Given the description of an element on the screen output the (x, y) to click on. 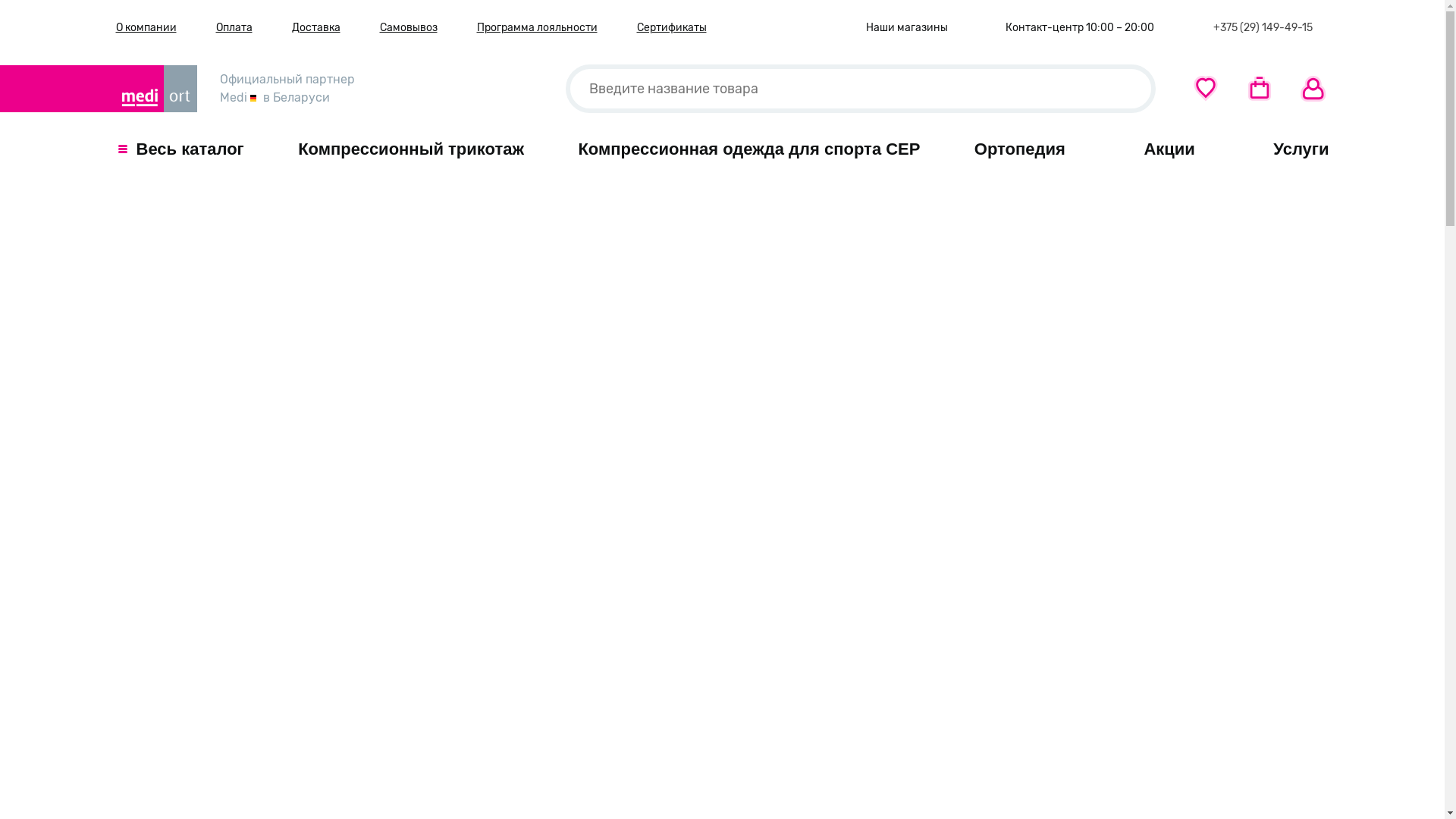
+375 (29) 149-49-15 Element type: text (1259, 27)
